Given the description of an element on the screen output the (x, y) to click on. 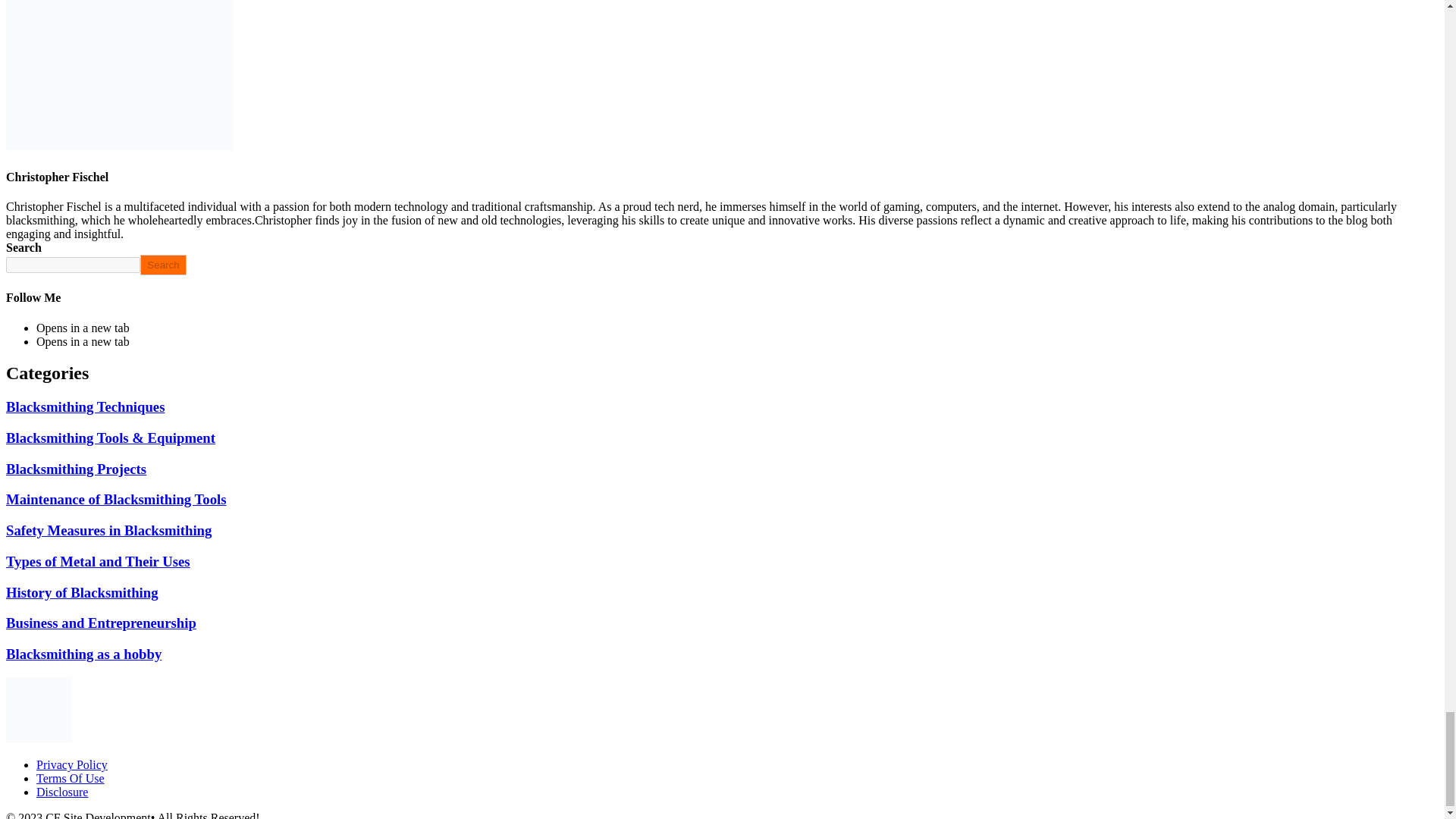
Blacksmithing as a hobby (83, 653)
Privacy Policy (71, 764)
Maintenance of Blacksmithing Tools (115, 498)
Blacksmithing Projects (76, 468)
History of Blacksmithing (81, 592)
Disclosure (61, 791)
Business and Entrepreneurship (100, 622)
Safety Measures in Blacksmithing (108, 530)
Search (162, 264)
Blacksmithing Techniques (84, 406)
Types of Metal and Their Uses (97, 561)
Terms Of Use (70, 778)
